Given the description of an element on the screen output the (x, y) to click on. 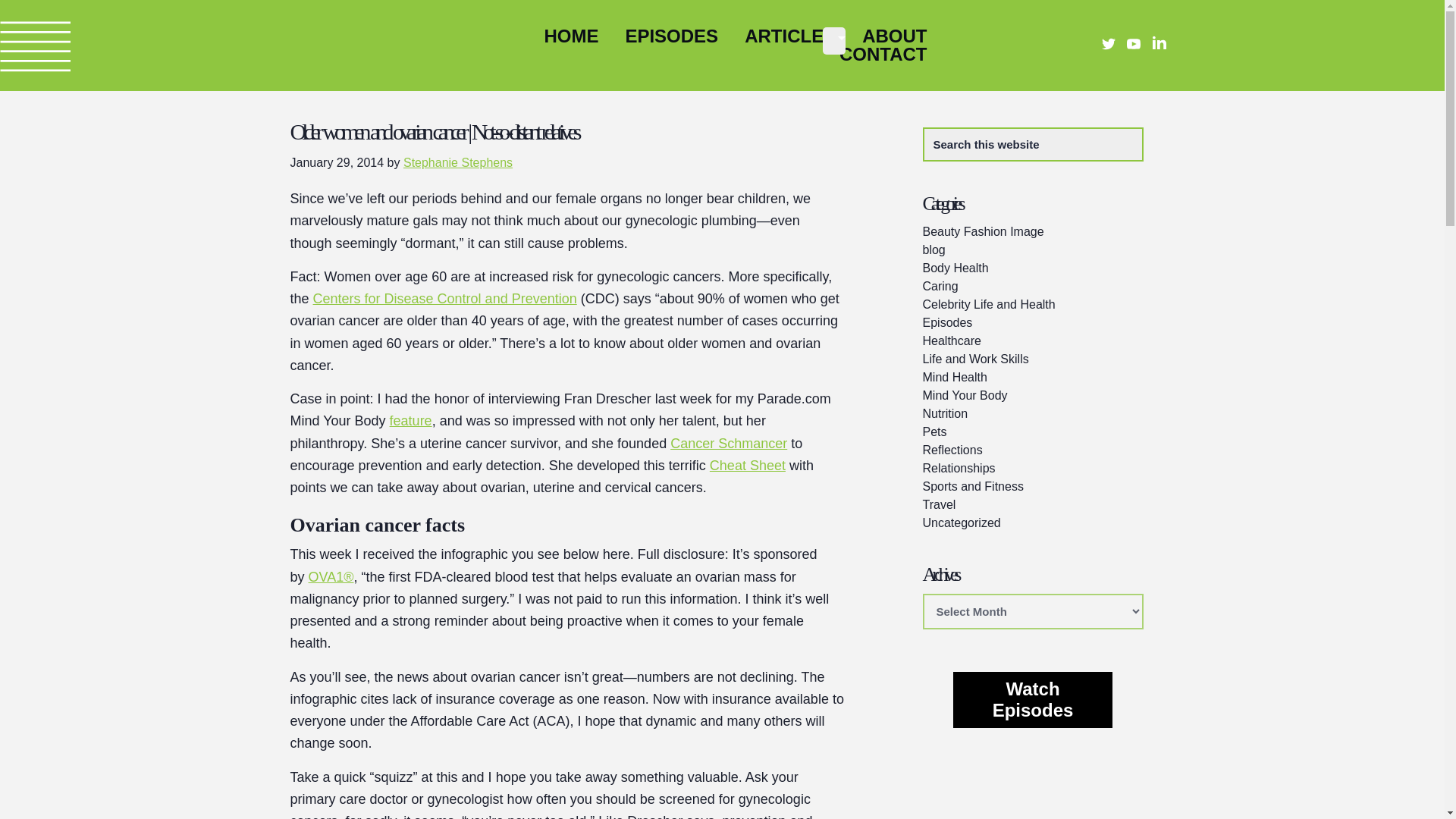
Search (1152, 137)
Stephanie Stephens (457, 162)
HOME (570, 36)
Search (1152, 137)
CONTACT (883, 54)
ARTICLES (789, 36)
ABOUT (893, 36)
EPISODES (670, 36)
